Given the description of an element on the screen output the (x, y) to click on. 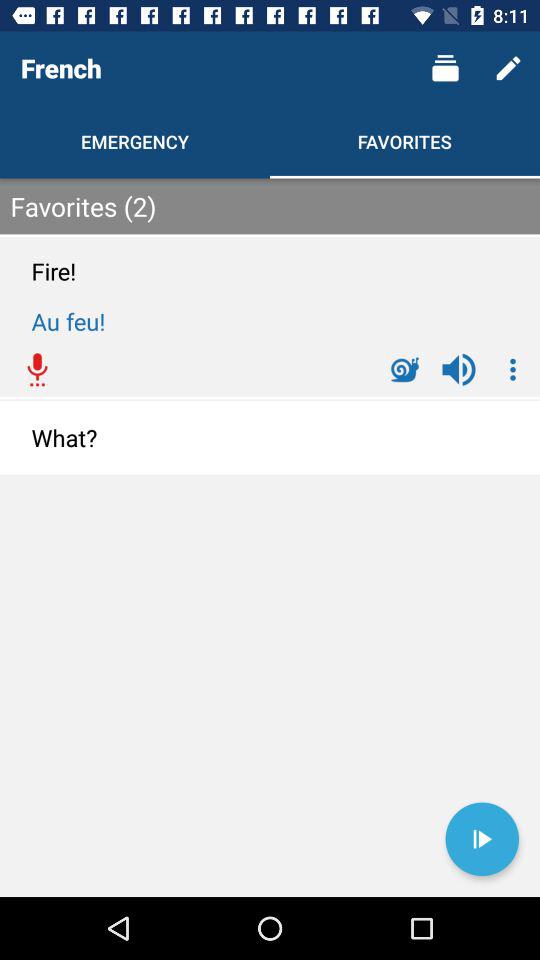
choose the icon to the right of the french (444, 67)
